Given the description of an element on the screen output the (x, y) to click on. 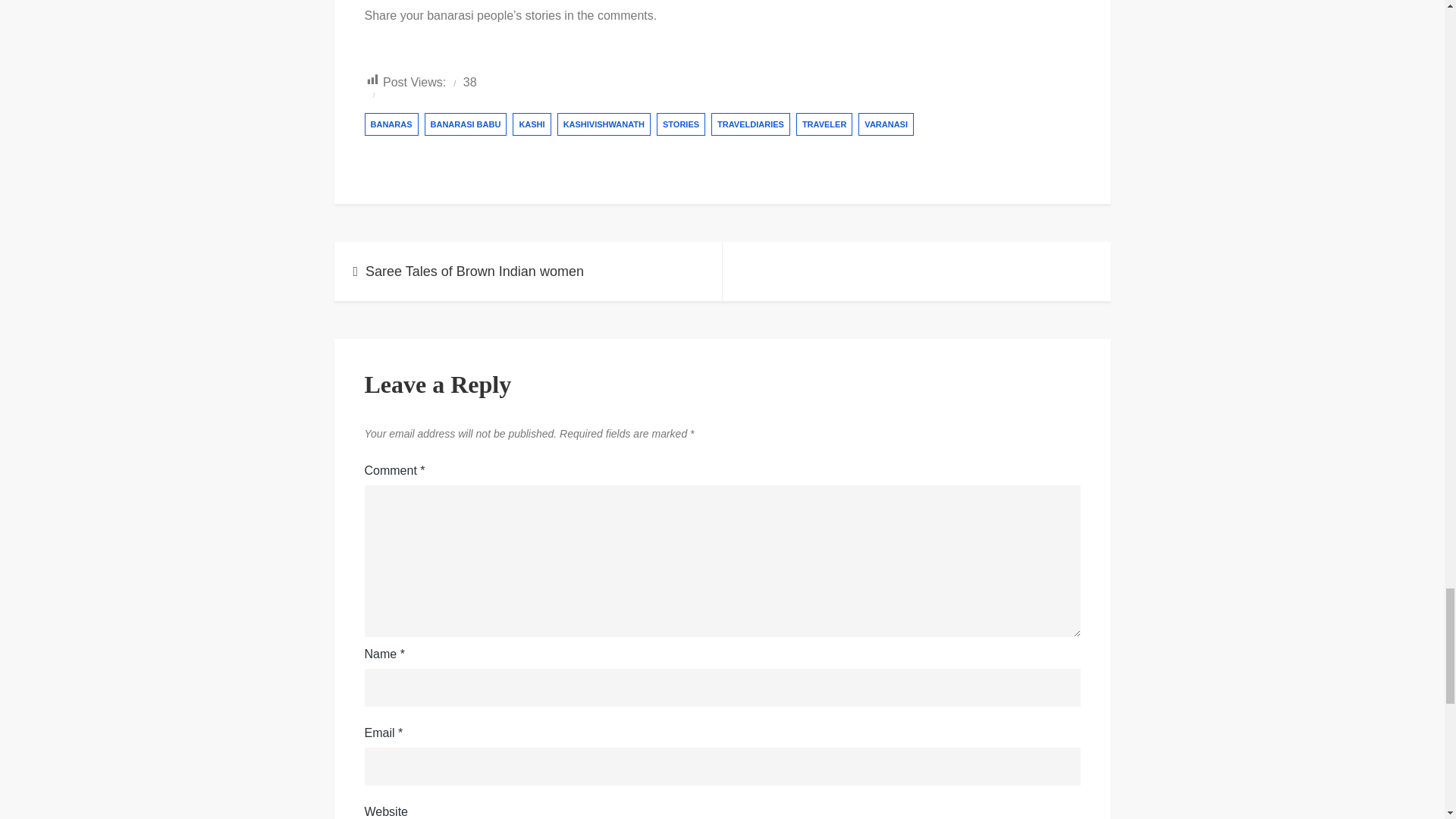
TRAVELDIARIES (750, 124)
KASHI (531, 124)
BANARAS (390, 124)
Saree Tales of Brown Indian women (527, 271)
KASHIVISHWANATH (603, 124)
TRAVELER (823, 124)
BANARASI BABU (465, 124)
STORIES (680, 124)
VARANASI (886, 124)
